Given the description of an element on the screen output the (x, y) to click on. 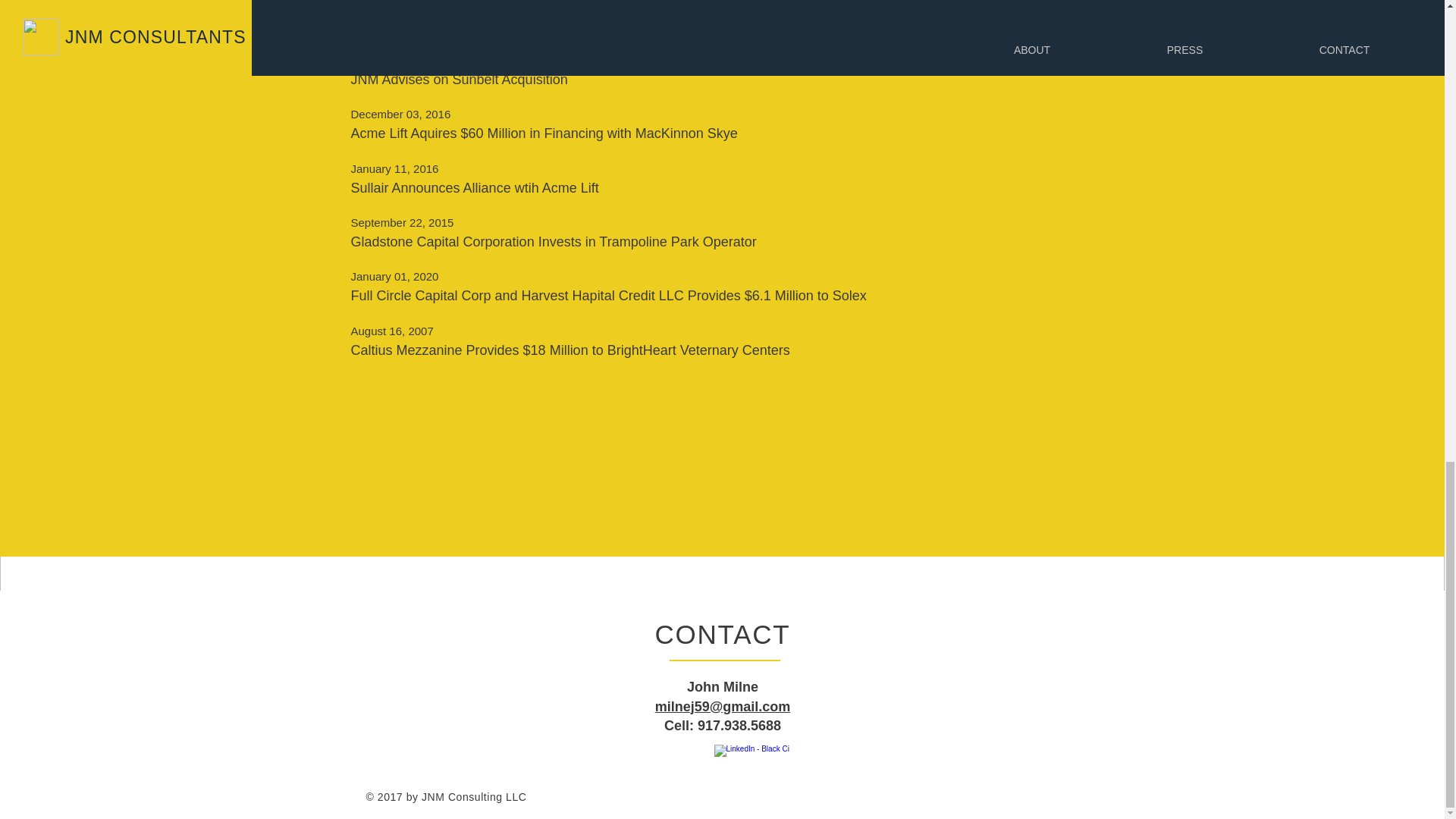
JNM Consulting Advises on Refinancing for Washington Air (873, 26)
August 16, 2007 (873, 330)
JNM Advises on Sunbelt Acquisition (873, 79)
Sullair Announces Alliance wtih Acme Lift (873, 188)
